Given the description of an element on the screen output the (x, y) to click on. 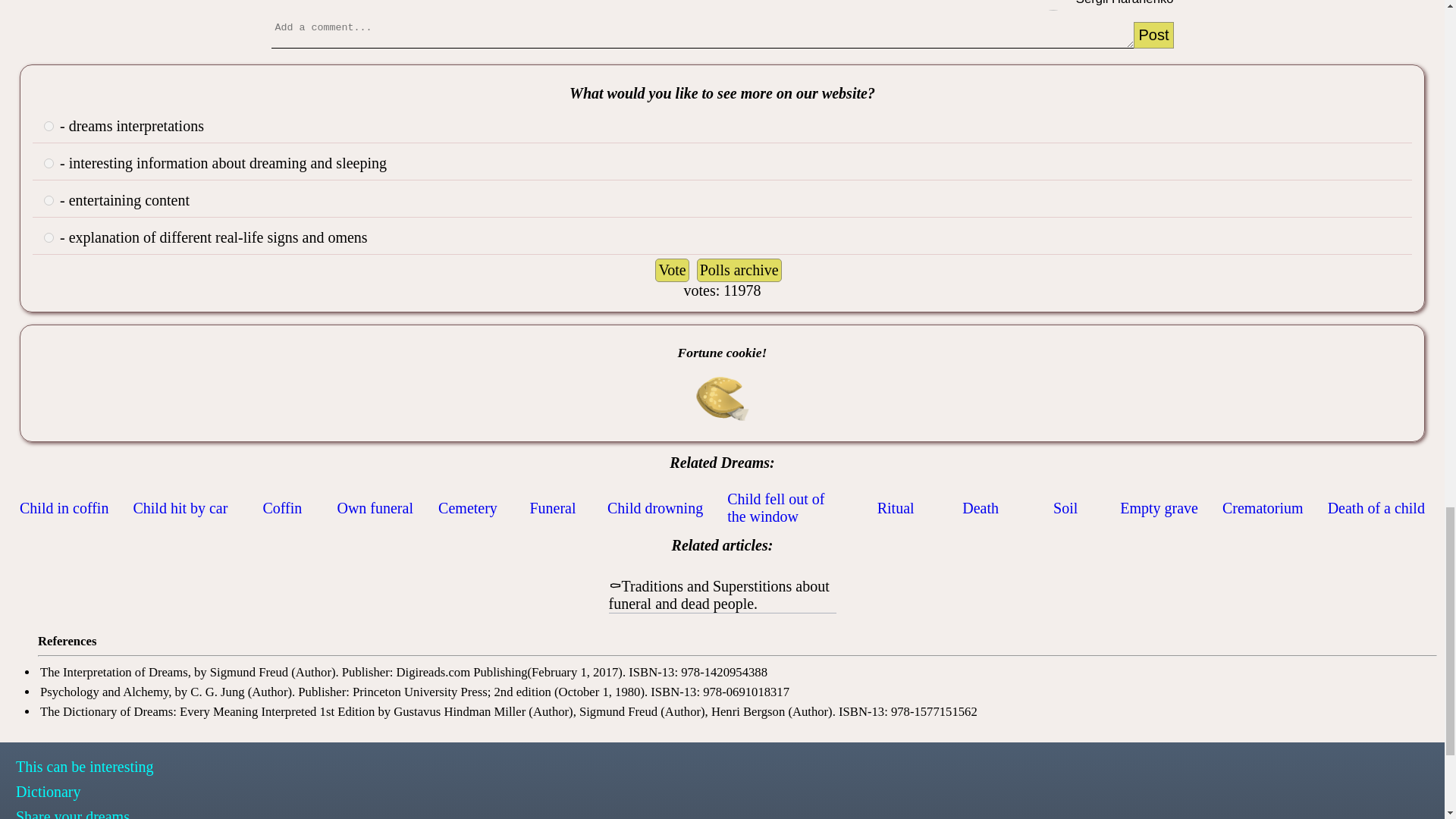
on (48, 163)
on (48, 237)
on (48, 126)
on (48, 200)
